Given the description of an element on the screen output the (x, y) to click on. 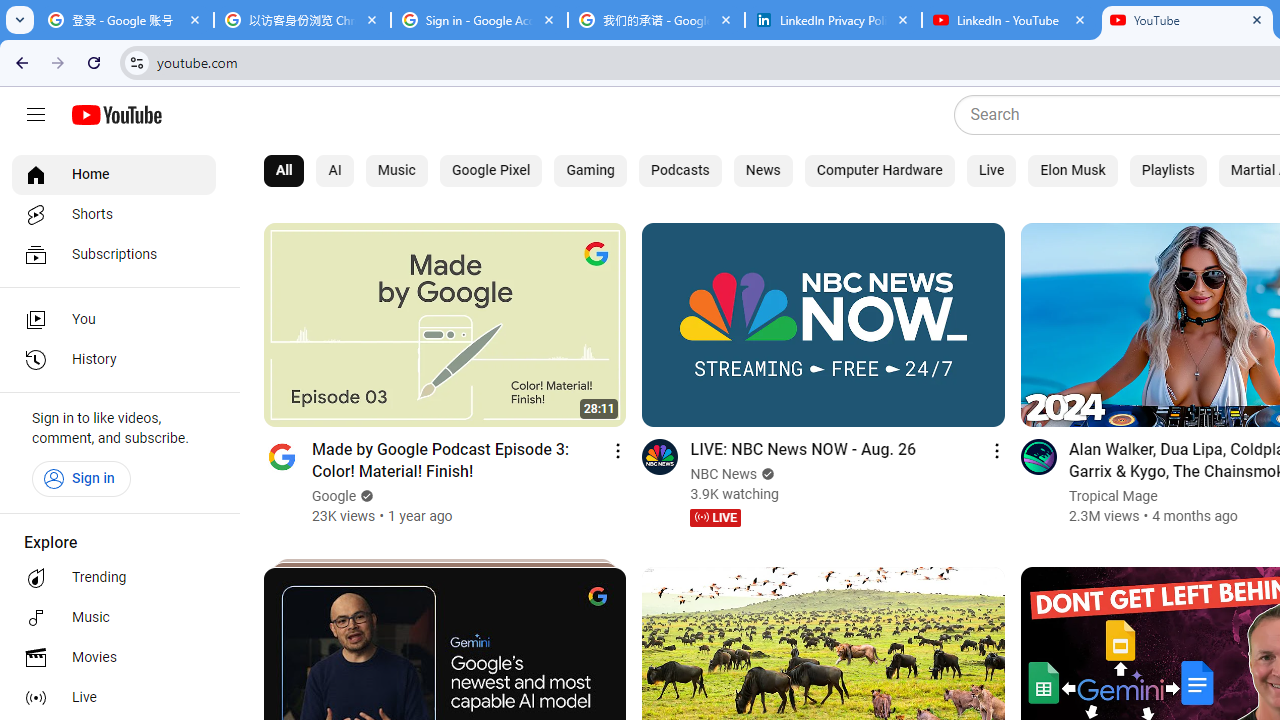
All (283, 170)
Google Pixel (490, 170)
Gaming (591, 170)
Playlists (1167, 170)
Subscriptions (113, 254)
Shorts (113, 214)
Music (395, 170)
Sign in - Google Accounts (479, 20)
Live (113, 697)
Elon Musk (1072, 170)
LIVE (715, 517)
